Given the description of an element on the screen output the (x, y) to click on. 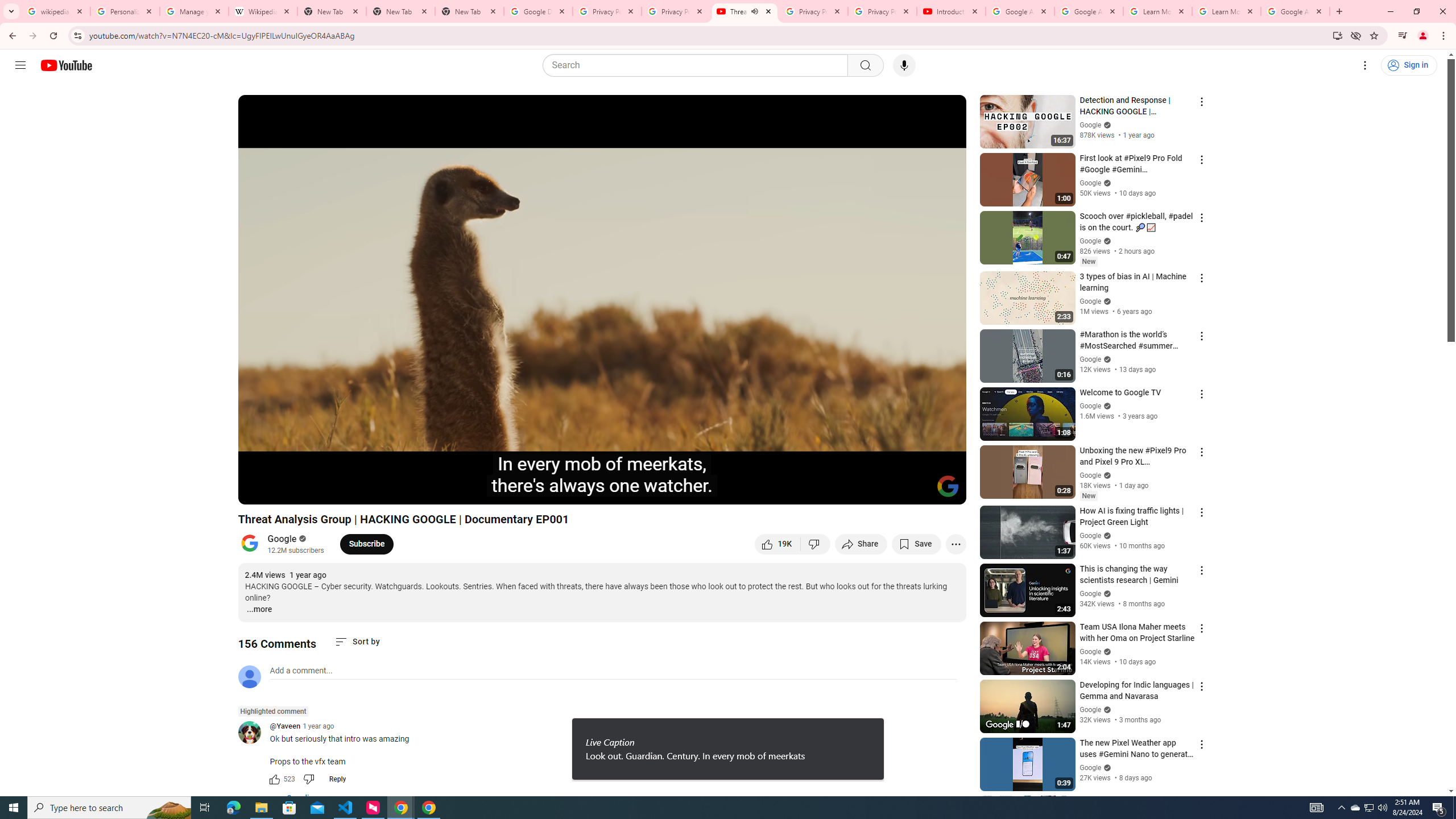
Google Account Help (1088, 11)
Reply (337, 778)
AutomationID: simplebox-placeholder (301, 670)
Google Drive: Sign-in (538, 11)
Search with your voice (903, 65)
Dislike this video (815, 543)
